Given the description of an element on the screen output the (x, y) to click on. 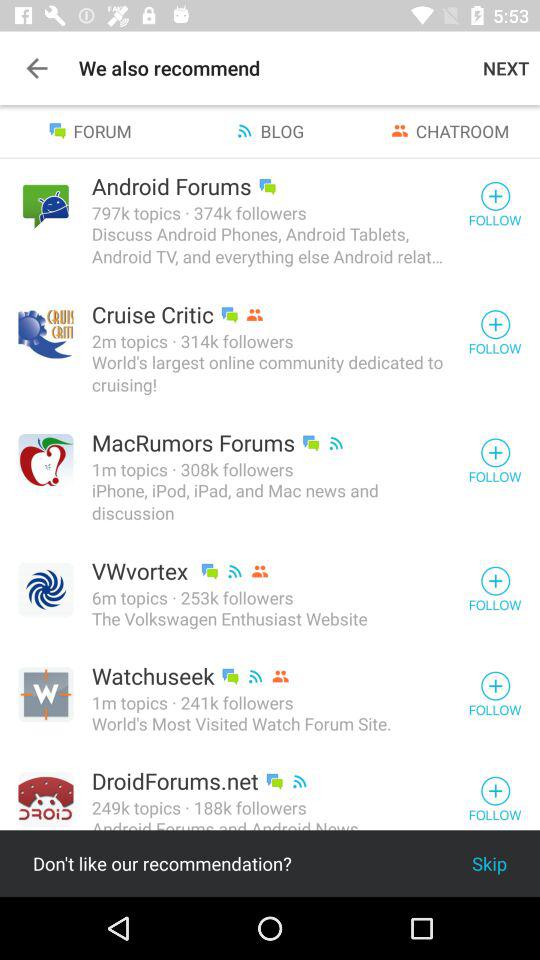
launch icon next to don t like item (489, 863)
